Given the description of an element on the screen output the (x, y) to click on. 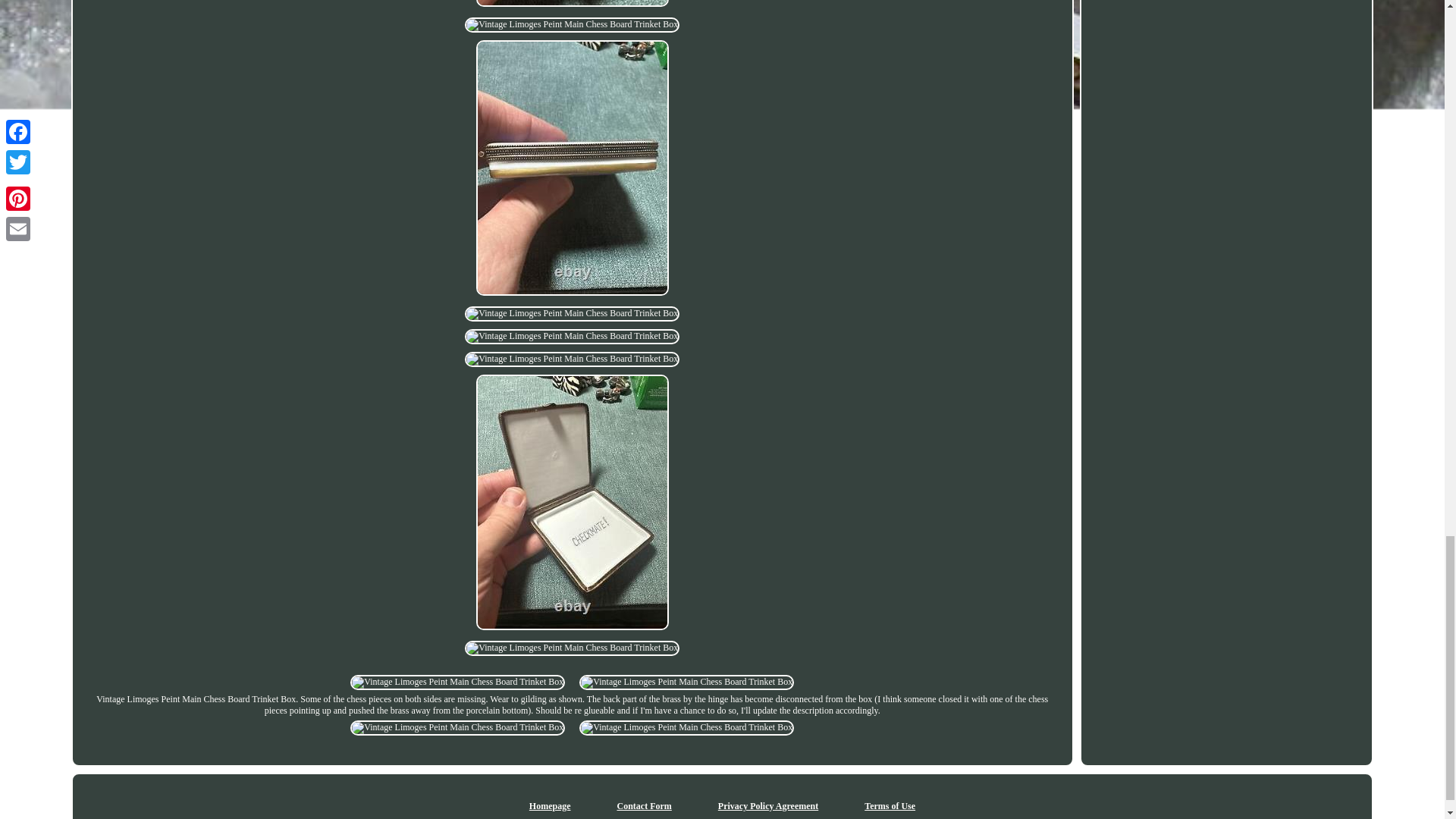
Vintage Limoges Peint Main Chess Board Trinket Box (457, 682)
Vintage Limoges Peint Main Chess Board Trinket Box (572, 3)
Vintage Limoges Peint Main Chess Board Trinket Box (571, 23)
Vintage Limoges Peint Main Chess Board Trinket Box (457, 727)
Vintage Limoges Peint Main Chess Board Trinket Box (571, 313)
Vintage Limoges Peint Main Chess Board Trinket Box (686, 727)
Vintage Limoges Peint Main Chess Board Trinket Box (571, 359)
Vintage Limoges Peint Main Chess Board Trinket Box (571, 647)
Vintage Limoges Peint Main Chess Board Trinket Box (686, 682)
Vintage Limoges Peint Main Chess Board Trinket Box (571, 336)
